Given the description of an element on the screen output the (x, y) to click on. 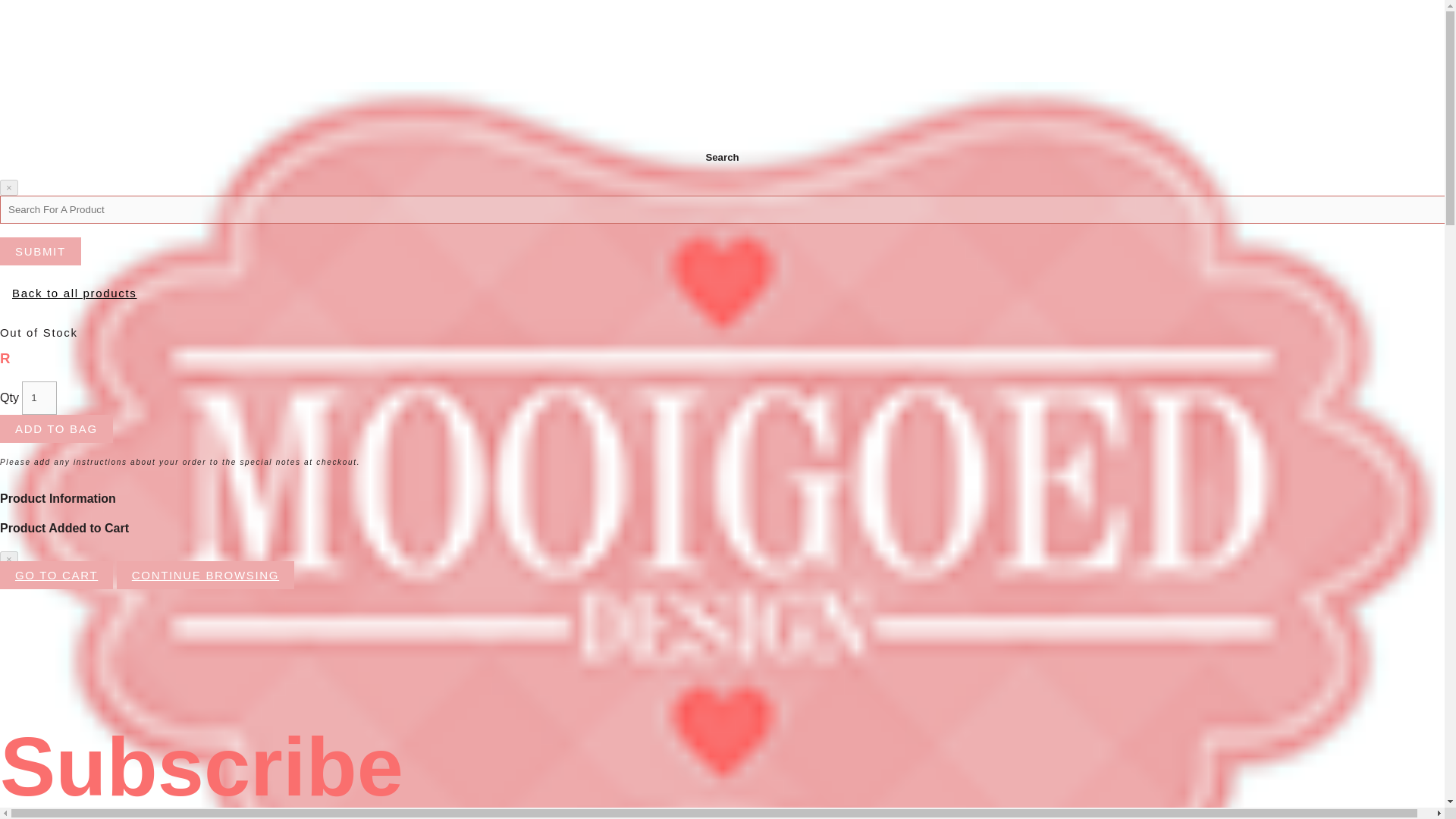
SUBMIT (40, 251)
ADD TO BAG (56, 428)
GO TO CART (56, 574)
CONTINUE BROWSING (205, 574)
Back to all products (73, 292)
1 (38, 397)
